Given the description of an element on the screen output the (x, y) to click on. 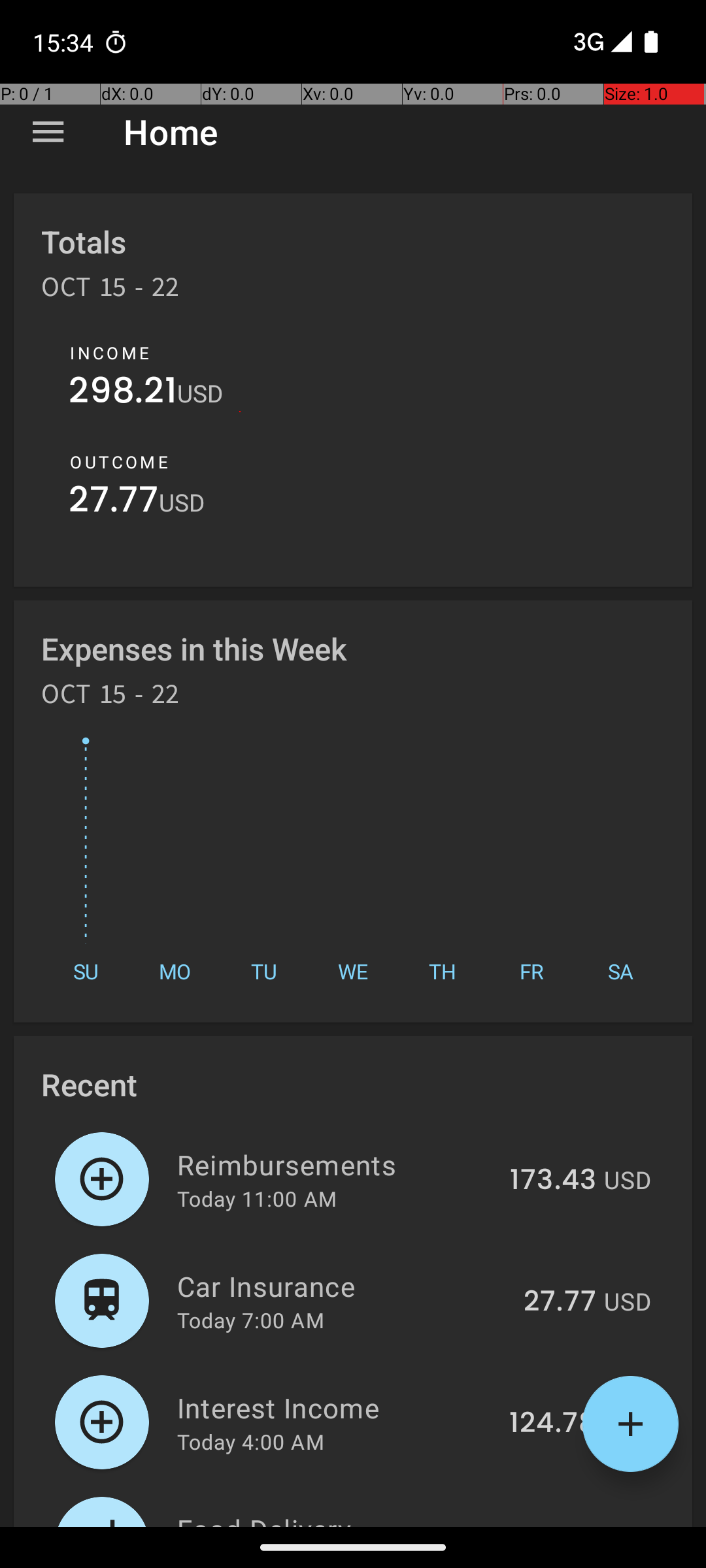
298.21 Element type: android.widget.TextView (122, 393)
27.77 Element type: android.widget.TextView (113, 502)
Reimbursements Element type: android.widget.TextView (335, 1164)
173.43 Element type: android.widget.TextView (552, 1180)
Car Insurance Element type: android.widget.TextView (342, 1285)
Today 7:00 AM Element type: android.widget.TextView (250, 1320)
Today 4:00 AM Element type: android.widget.TextView (250, 1441)
124.78 Element type: android.widget.TextView (552, 1423)
Food Delivery Element type: android.widget.TextView (334, 1518)
331.44 Element type: android.widget.TextView (551, 1524)
